Given the description of an element on the screen output the (x, y) to click on. 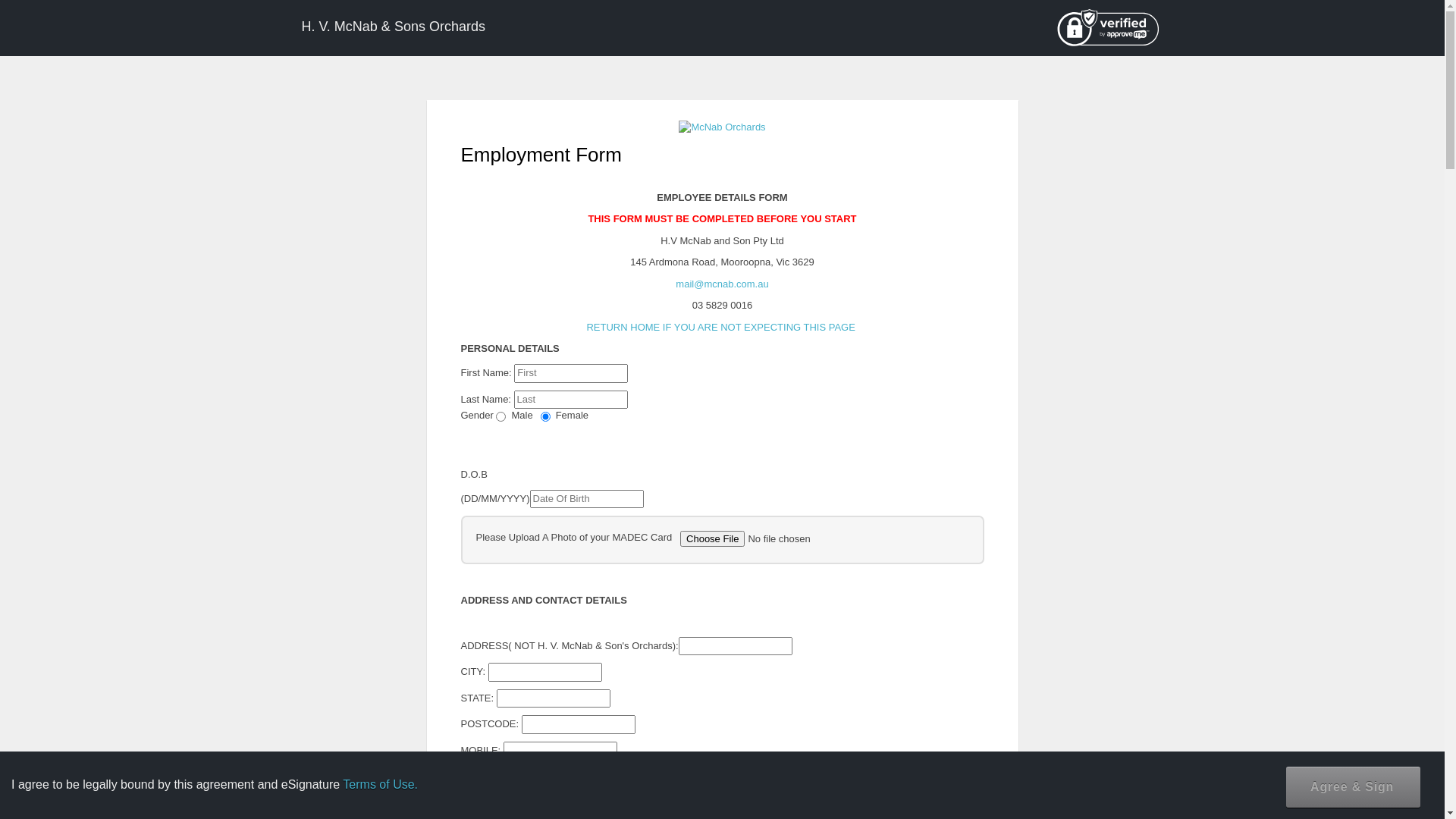
mail@mcnab.com.au Element type: text (721, 283)
H. V. McNab & Sons Orchards Element type: text (392, 18)
Terms of Use. Element type: text (379, 784)
RETURN HOME IF YOU ARE NOT EXPECTING THIS PAGE Element type: text (720, 326)
Agree & Sign Element type: text (1353, 786)
